Given the description of an element on the screen output the (x, y) to click on. 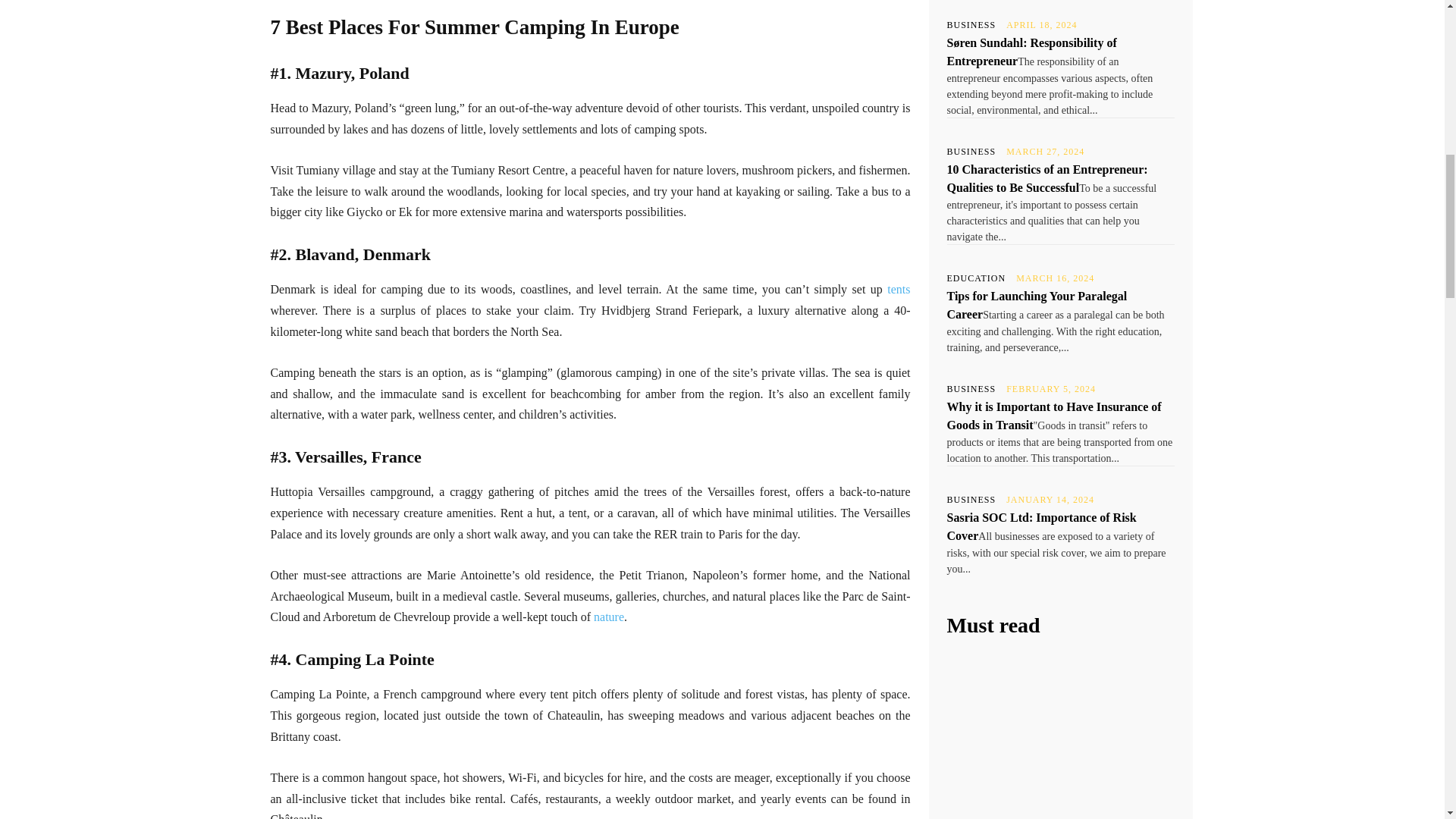
nature (609, 616)
tents (898, 288)
